Given the description of an element on the screen output the (x, y) to click on. 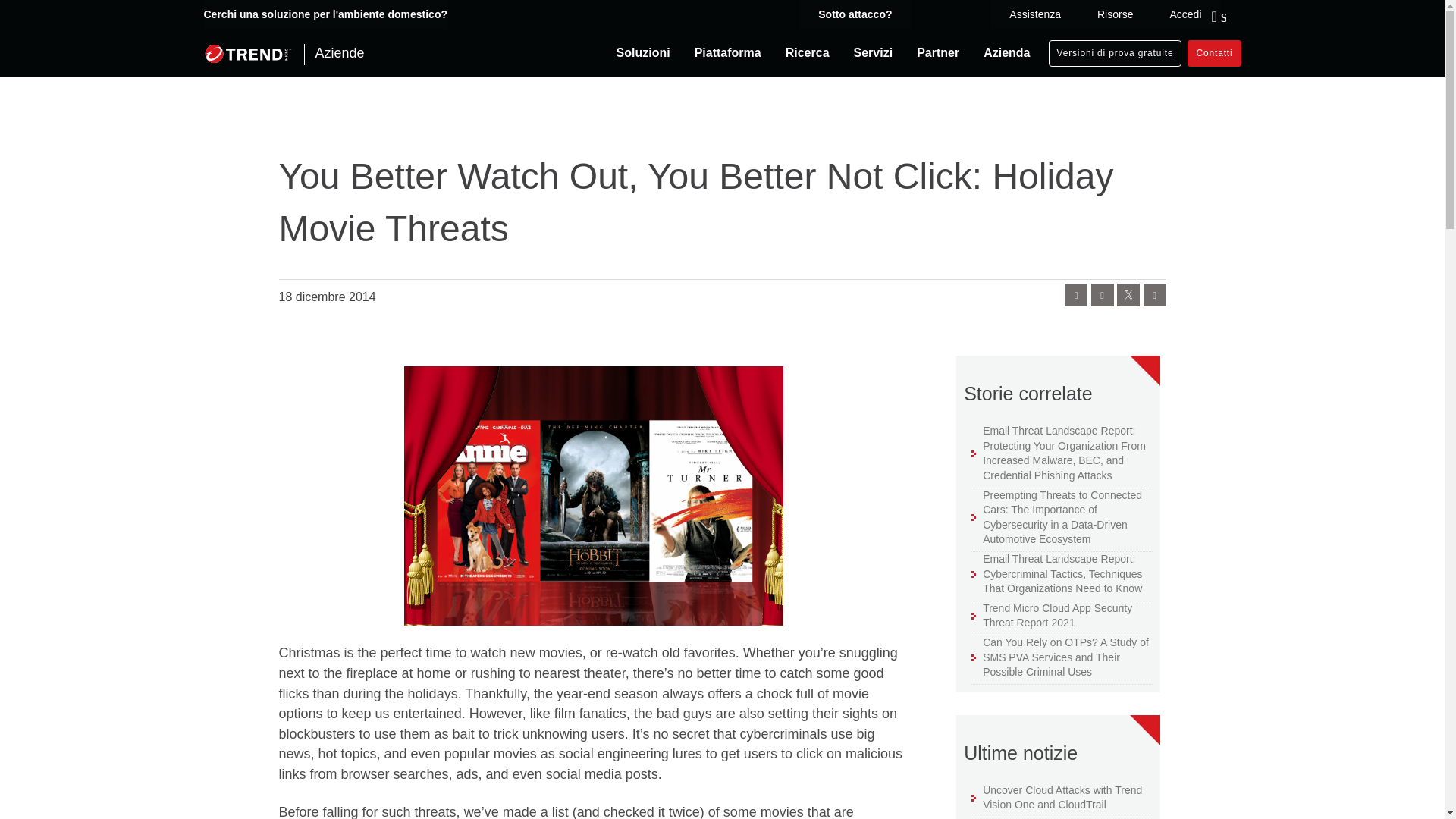
Aziende (283, 53)
